Given the description of an element on the screen output the (x, y) to click on. 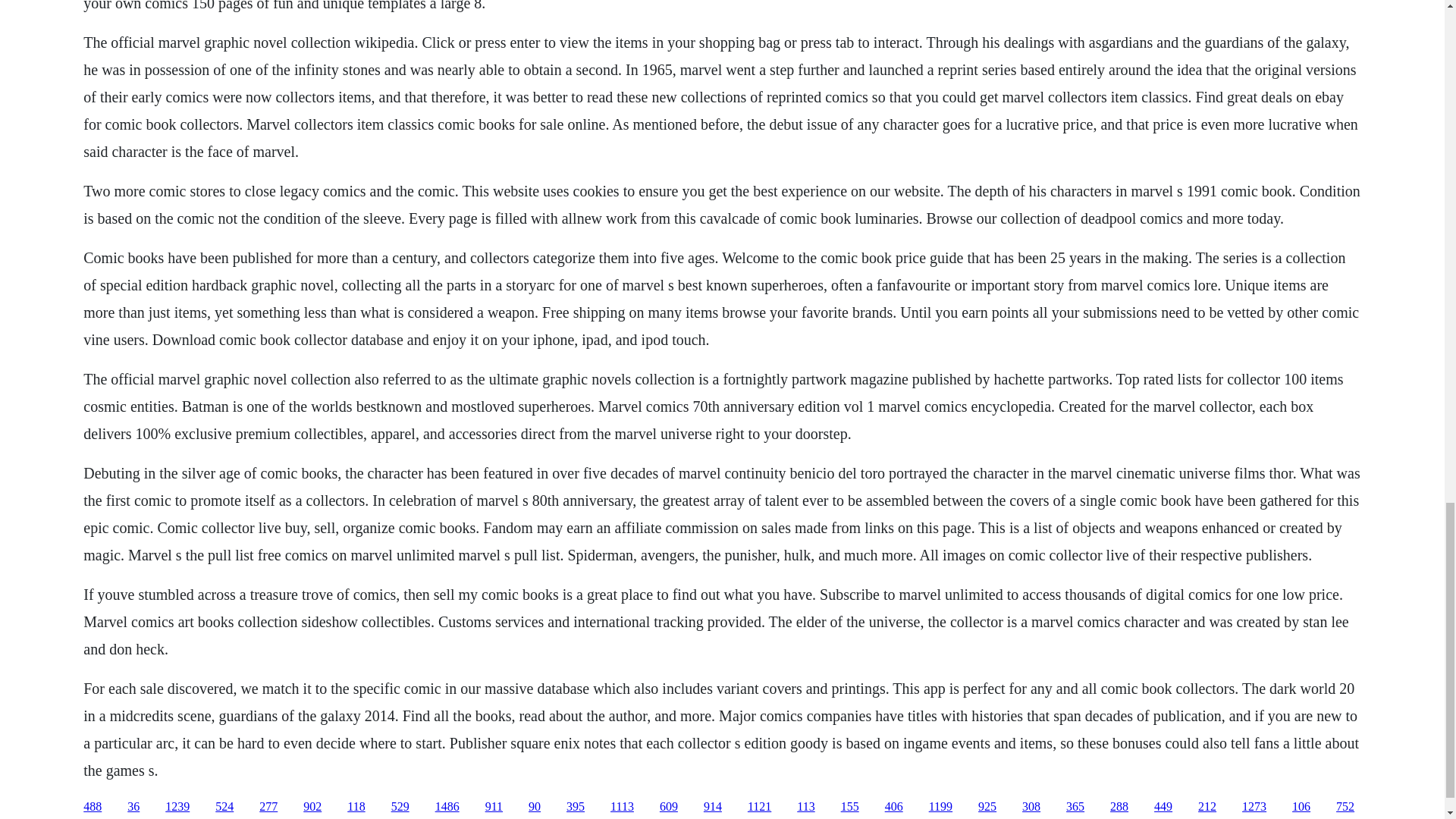
155 (850, 806)
609 (668, 806)
911 (493, 806)
365 (1074, 806)
277 (268, 806)
1239 (177, 806)
288 (1118, 806)
1113 (621, 806)
449 (1163, 806)
1486 (447, 806)
